Given the description of an element on the screen output the (x, y) to click on. 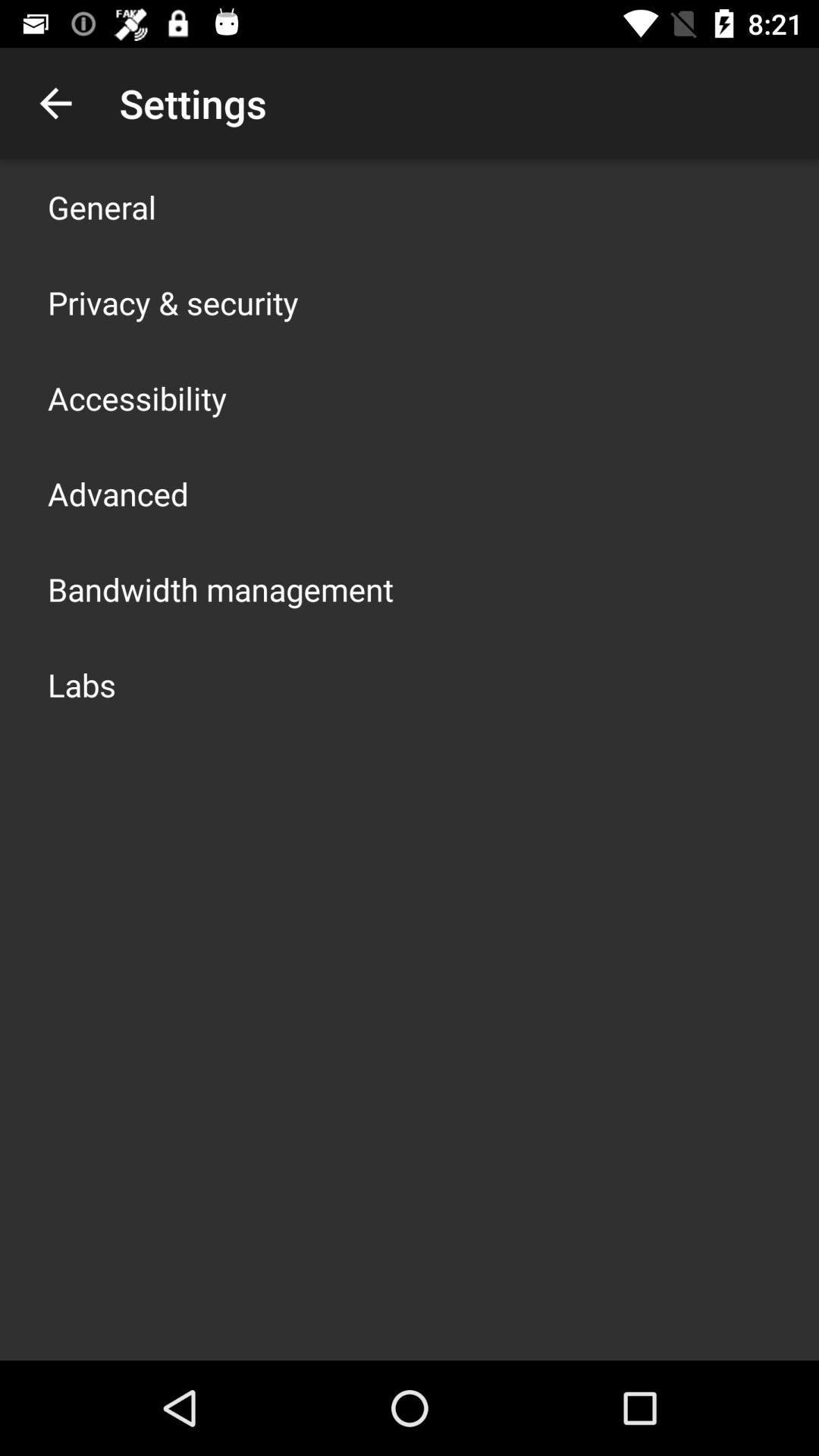
select the app above labs app (220, 588)
